Given the description of an element on the screen output the (x, y) to click on. 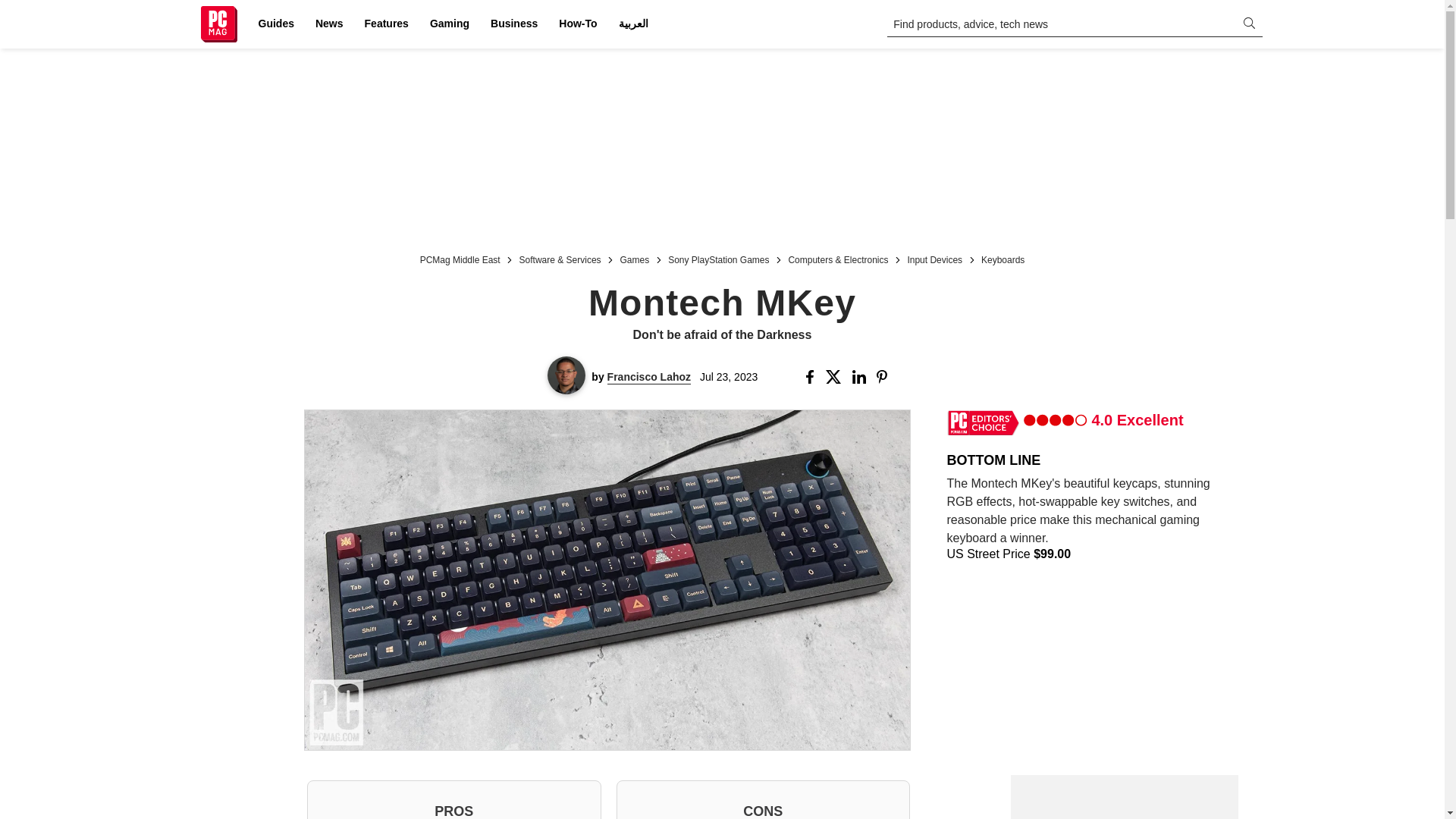
Share this Story on Pinterest (886, 377)
Keyboards (1003, 258)
Guides (275, 24)
Input Devices (934, 258)
Features (386, 24)
Search (21, 7)
Share this Story on Facebook (812, 377)
Gaming (449, 24)
Business (513, 24)
Share this Story on X (835, 377)
